Given the description of an element on the screen output the (x, y) to click on. 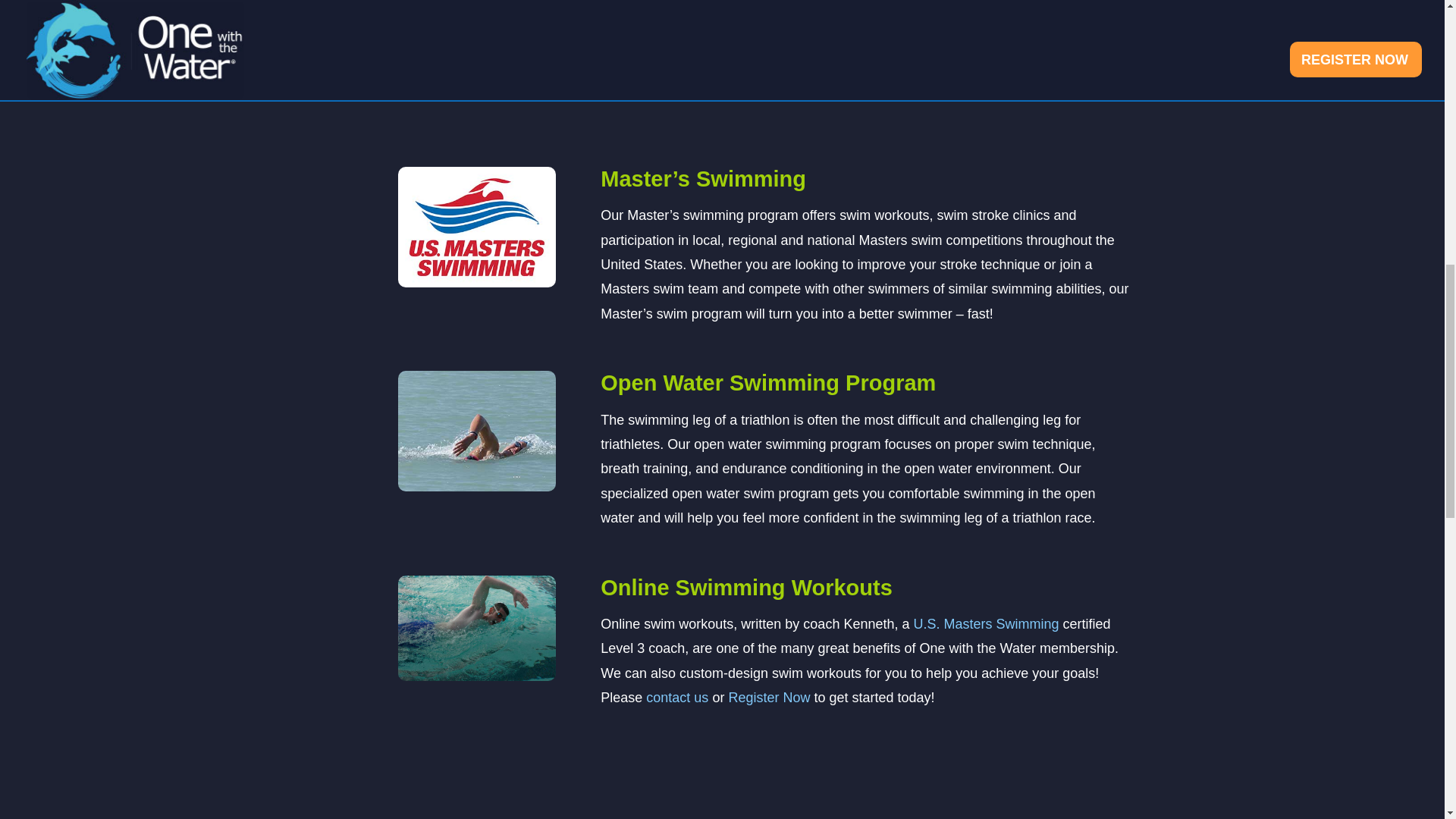
Register Now (768, 697)
contact us (678, 697)
CONTACT US (721, 22)
U.S. Masters Swimming (985, 623)
